Given the description of an element on the screen output the (x, y) to click on. 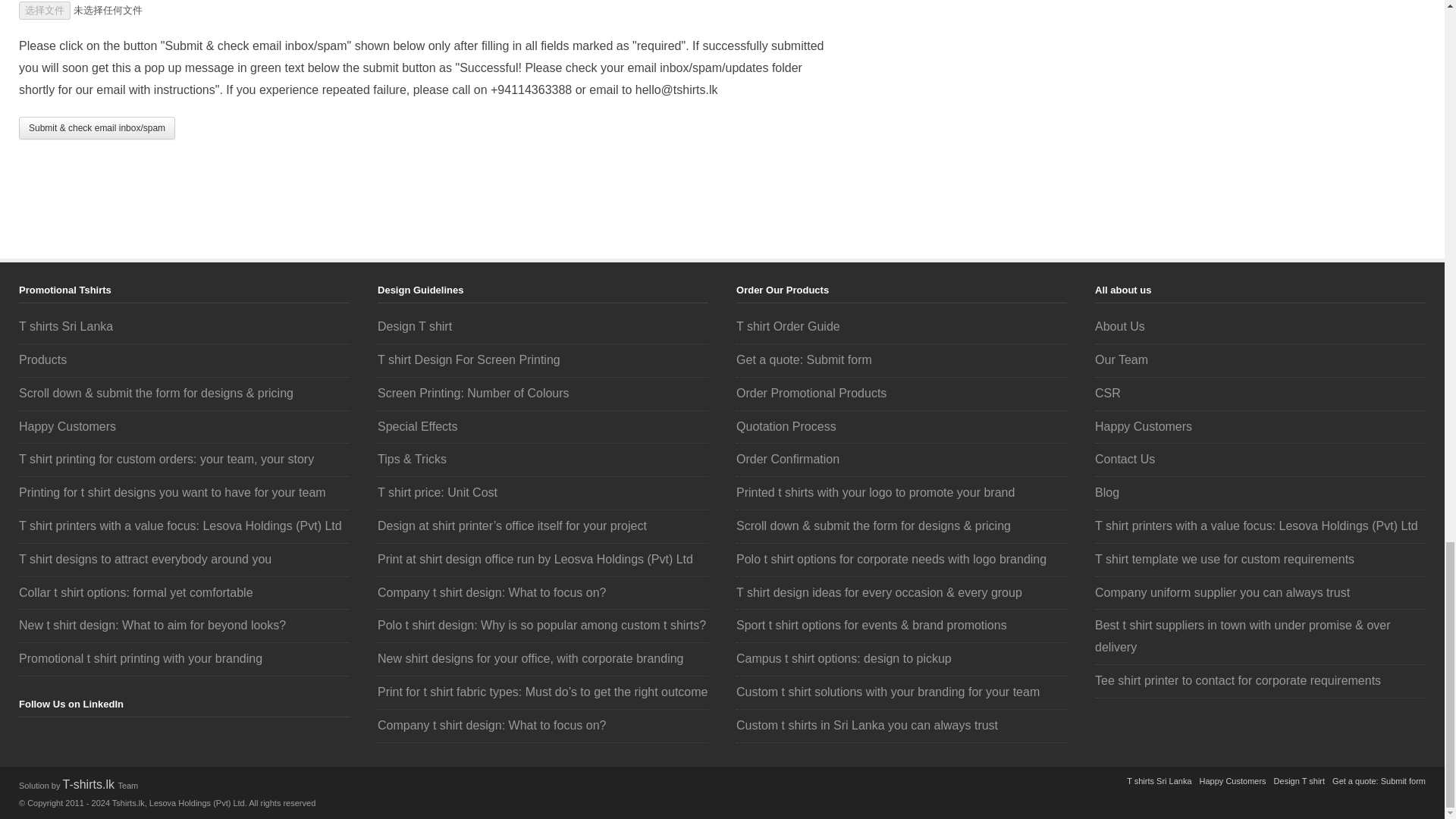
T shirt printing for custom orders: your team, your story (166, 459)
Design T shirt (414, 326)
Happy Customers (67, 426)
Printing for t shirt designs you want to have for your team (172, 492)
Products (42, 359)
New t shirt design: What to aim for beyond looks? (151, 625)
T shirts Sri Lanka (65, 326)
T shirt designs to attract everybody around you (144, 558)
Promotional t shirt printing with your branding (140, 658)
Collar t shirt options: formal yet comfortable (135, 592)
